Given the description of an element on the screen output the (x, y) to click on. 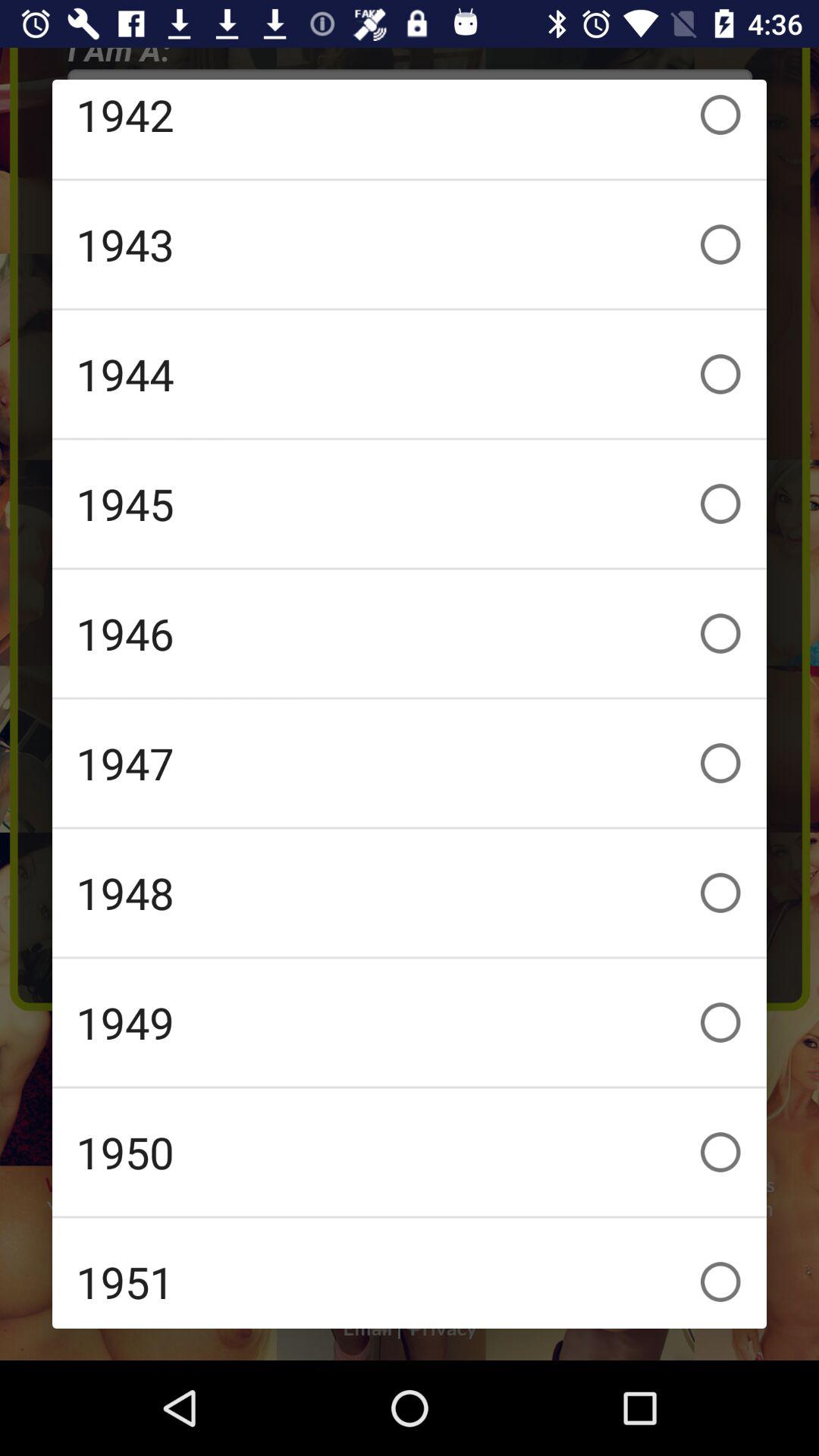
scroll until the 1944 item (409, 373)
